Given the description of an element on the screen output the (x, y) to click on. 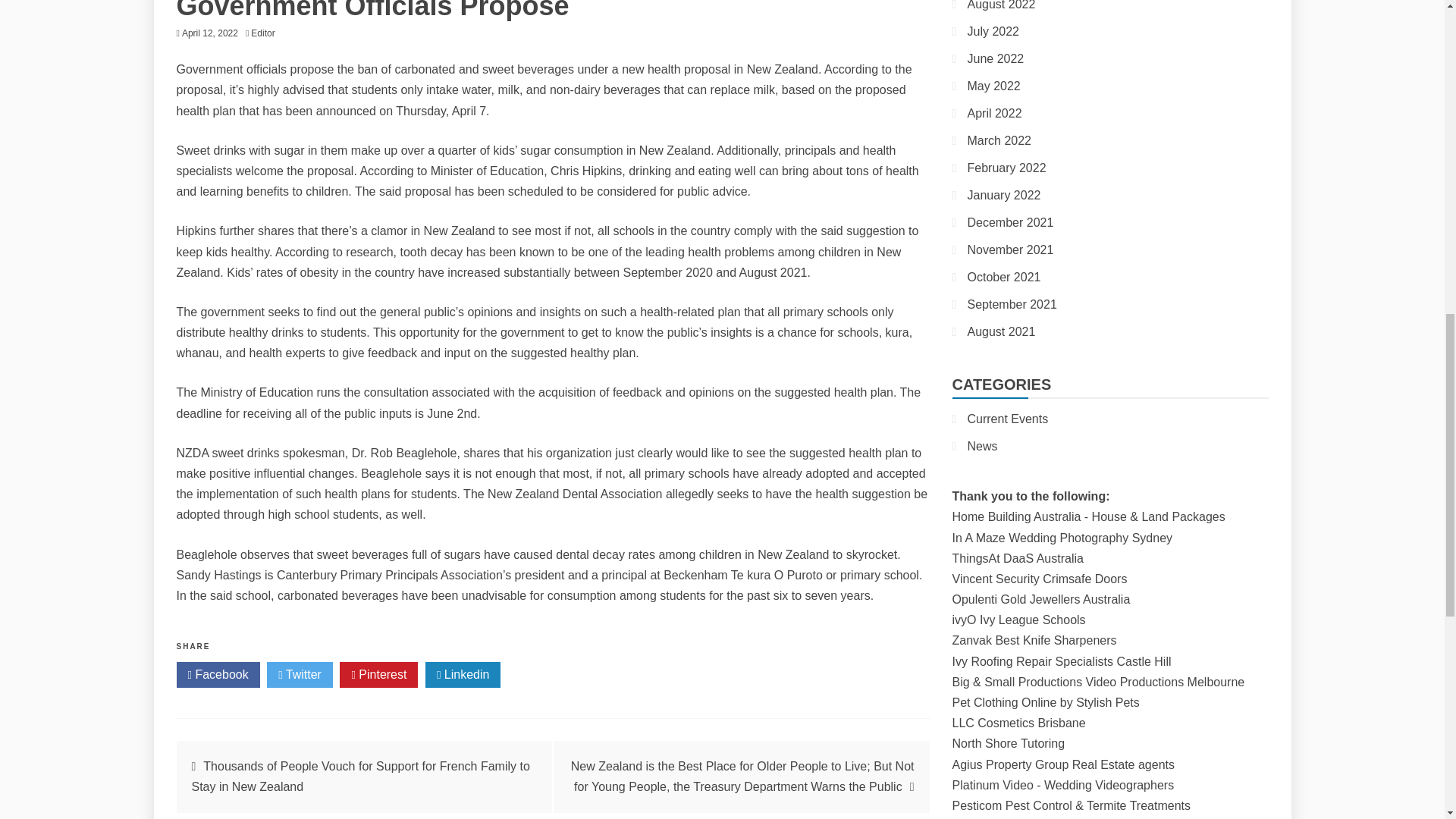
Twitter (299, 674)
Editor (266, 32)
Linkedin (462, 674)
Pinterest (378, 674)
April 12, 2022 (210, 32)
Facebook (217, 674)
